Given the description of an element on the screen output the (x, y) to click on. 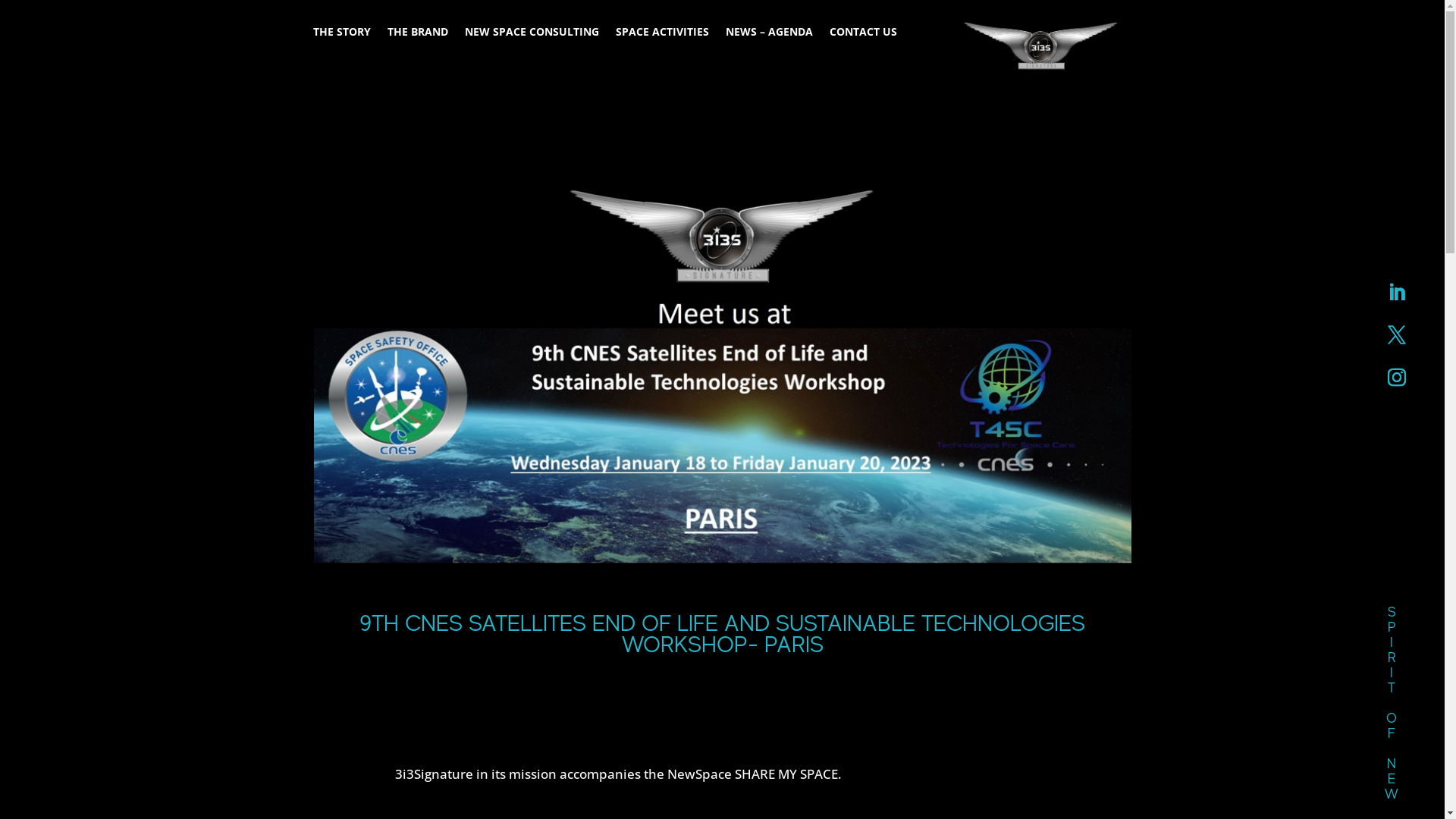
3i3SIgnature Element type: hover (1041, 46)
Follow on Instagram Element type: hover (1396, 377)
Space Element type: hover (721, 362)
Follow on X Element type: hover (1396, 334)
SPACE ACTIVITIES Element type: text (662, 34)
NEW SPACE CONSULTING Element type: text (531, 34)
THE STORY Element type: text (341, 34)
CONTACT US Element type: text (863, 34)
THE BRAND Element type: text (416, 34)
Follow on LinkedIn Element type: hover (1396, 292)
